Given the description of an element on the screen output the (x, y) to click on. 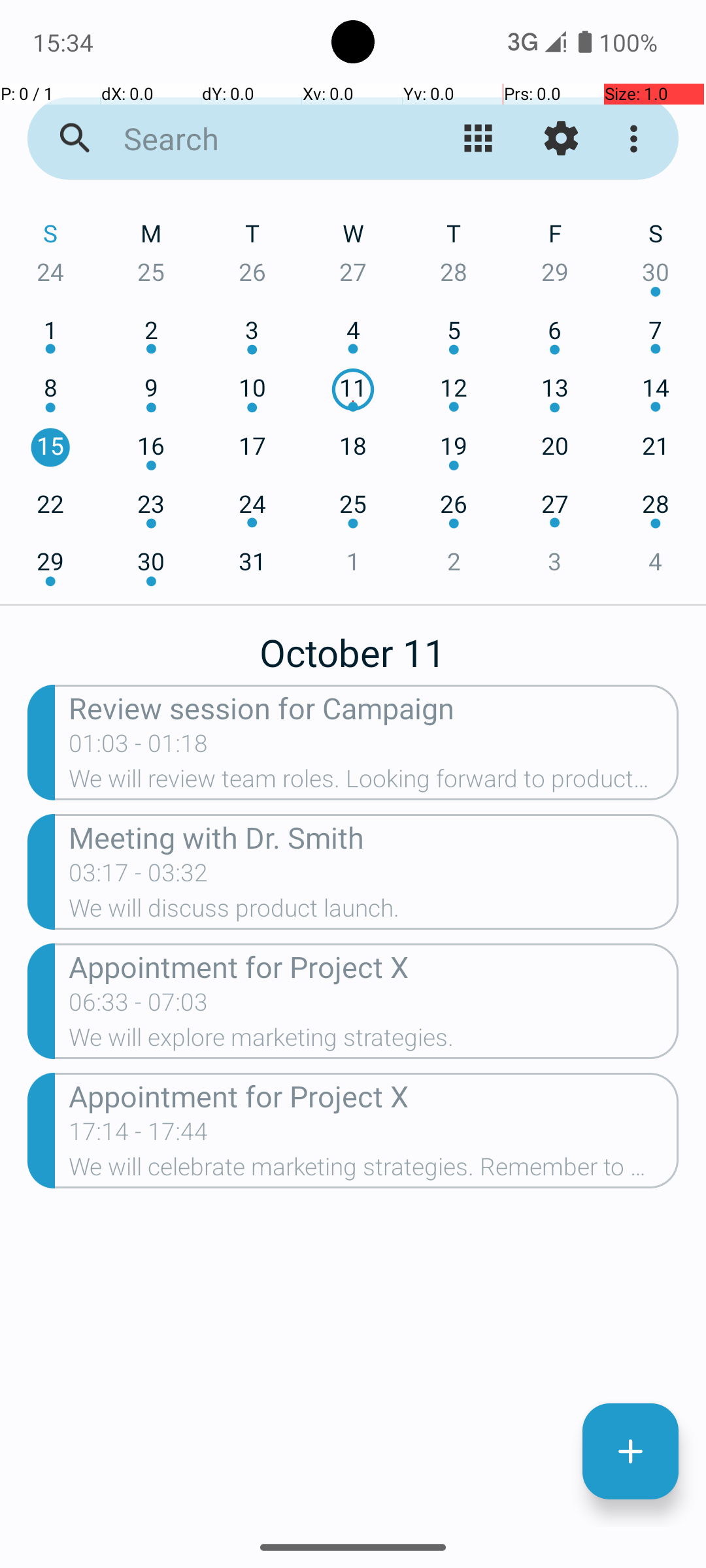
October 11 Element type: android.widget.TextView (352, 644)
Review session for Campaign Element type: android.widget.TextView (373, 706)
01:03 - 01:18 Element type: android.widget.TextView (137, 747)
We will review team roles. Looking forward to productive discussions. Element type: android.widget.TextView (373, 782)
Meeting with Dr. Smith Element type: android.widget.TextView (373, 836)
03:17 - 03:32 Element type: android.widget.TextView (137, 876)
We will discuss product launch. Element type: android.widget.TextView (373, 911)
Appointment for Project X Element type: android.widget.TextView (373, 965)
06:33 - 07:03 Element type: android.widget.TextView (137, 1005)
We will explore marketing strategies. Element type: android.widget.TextView (373, 1041)
17:14 - 17:44 Element type: android.widget.TextView (137, 1135)
We will celebrate marketing strategies. Remember to confirm attendance. Element type: android.widget.TextView (373, 1170)
